Given the description of an element on the screen output the (x, y) to click on. 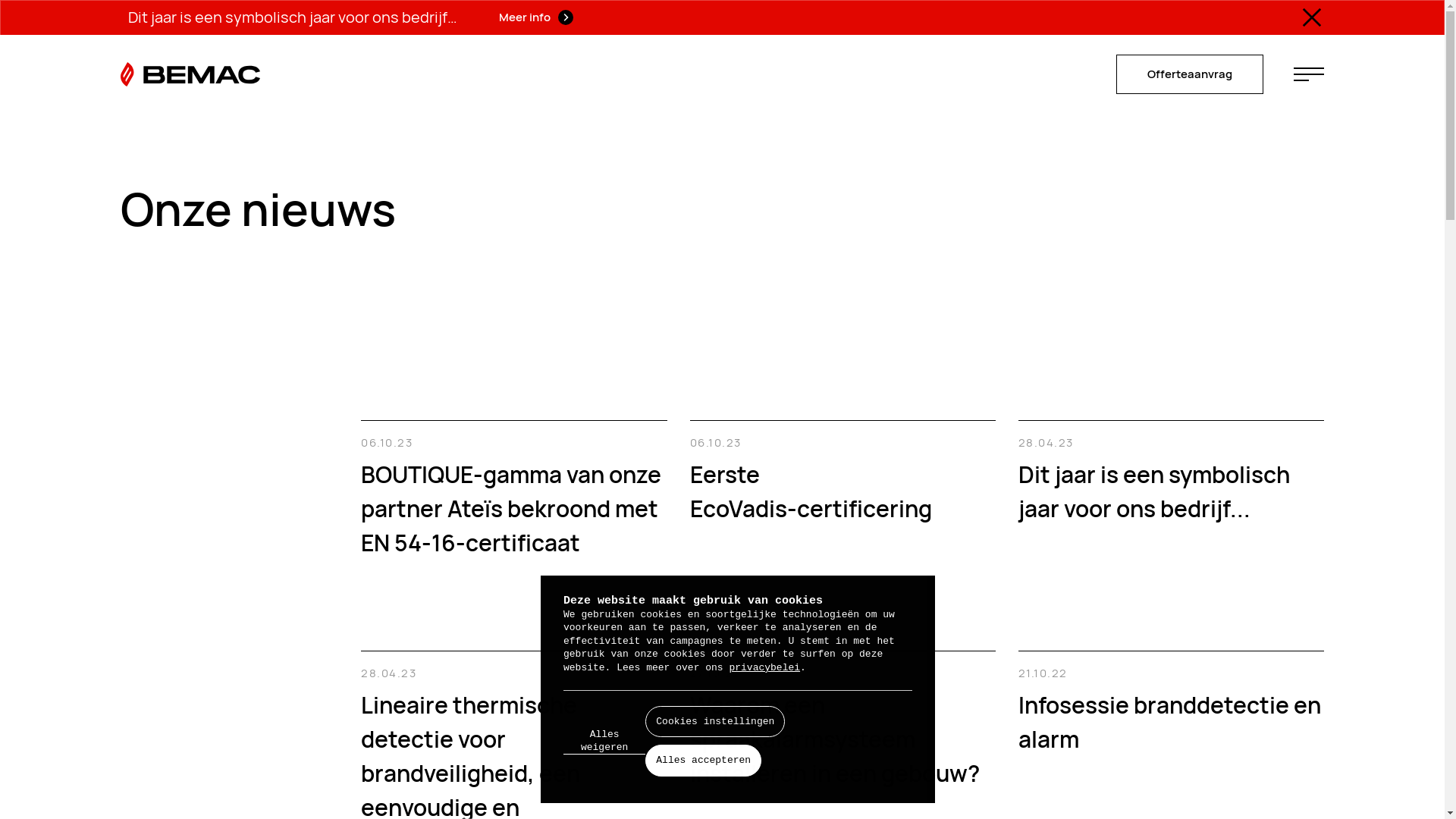
21.10.22
Infosessie branddetectie en
alarm Element type: text (1171, 703)
Meer info Element type: text (535, 17)
Offerteaanvrag
Offerteaanvrag Element type: text (1189, 74)
Cookies instellingen Element type: text (714, 721)
Alles accepteren Element type: text (703, 760)
28.04.23
Dit jaar is een symbolisch
jaar voor ons bedrijf... Element type: text (1171, 472)
06.10.23
Eerste
EcoVadis-certificering Element type: text (842, 472)
Alles weigeren Element type: text (603, 741)
privacybelei Element type: text (764, 667)
